Given the description of an element on the screen output the (x, y) to click on. 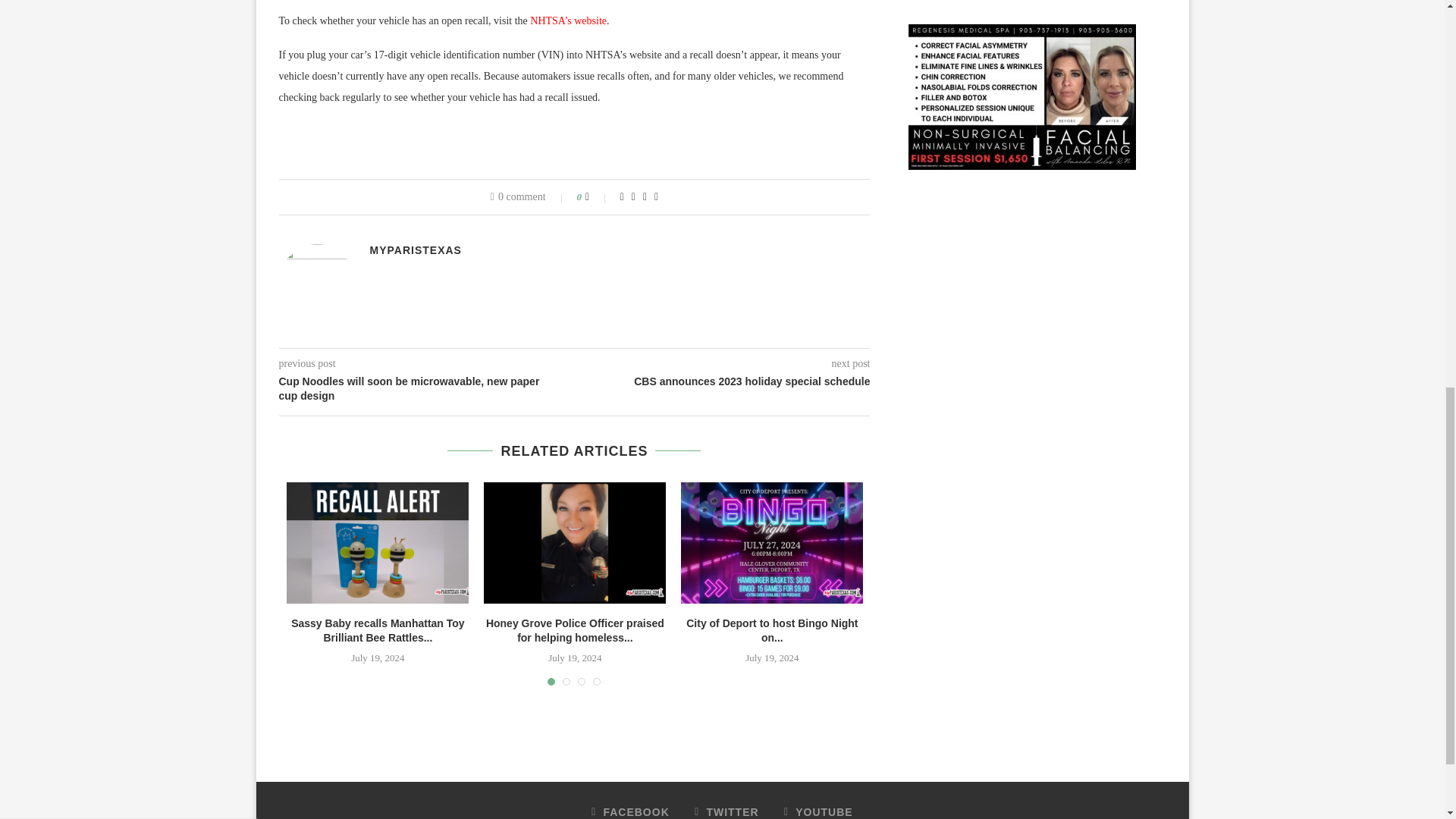
Like (597, 196)
Honey Grove Police Officer praised for helping homeless man (574, 542)
City of Deport to host Bingo Night on July 27 (772, 542)
Posts by MyParisTexas (415, 250)
